Given the description of an element on the screen output the (x, y) to click on. 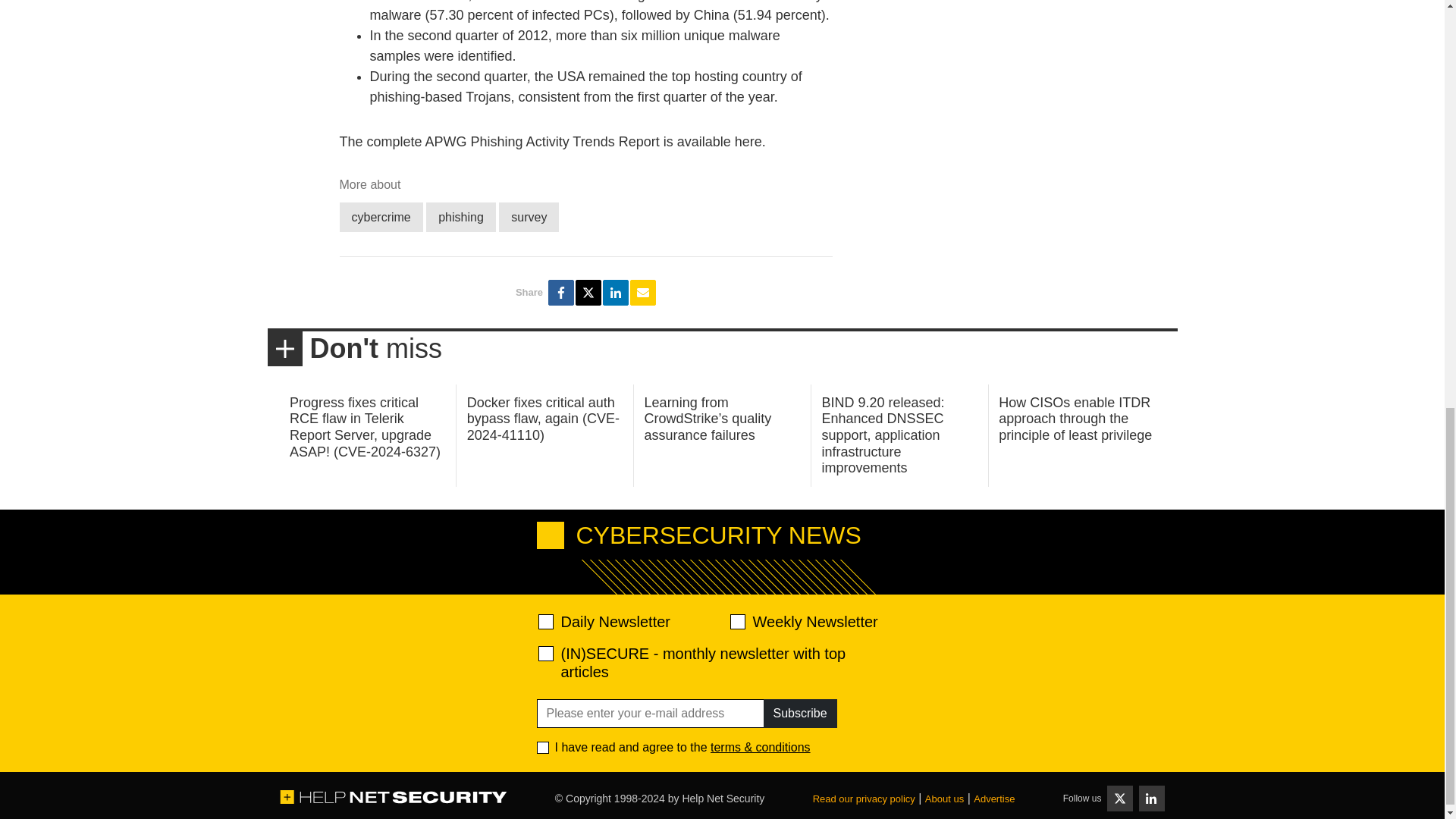
survey (529, 216)
phishing (461, 216)
Share Phishing attacks increasingly target brands on Twitter (588, 292)
Share Phishing attacks increasingly target brands via E-mail (643, 292)
phishing (461, 216)
28abe5d9ef (545, 653)
survey (529, 216)
520ac2f639 (545, 621)
cybercrime (381, 216)
d2d471aafa (736, 621)
1 (542, 747)
